Given the description of an element on the screen output the (x, y) to click on. 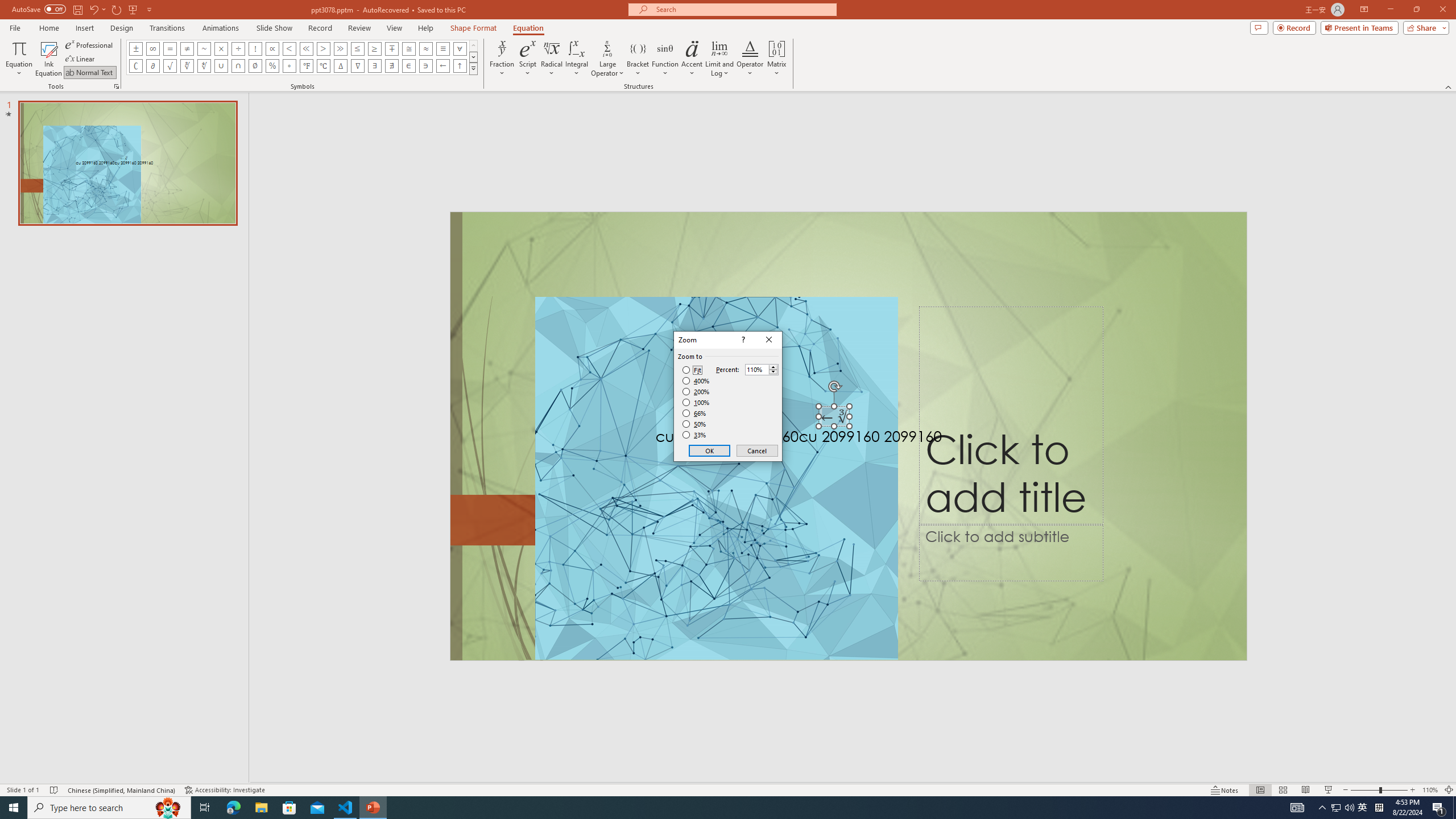
Limit and Log (719, 58)
Equation Symbol Degrees (289, 65)
Equation Symbol Complement (136, 65)
Equation Symbol For All (459, 48)
Equation Options... (116, 85)
Equation Symbol Factorial (255, 48)
Equation Symbol Not Equal To (187, 48)
Script (527, 58)
50% (694, 424)
